Given the description of an element on the screen output the (x, y) to click on. 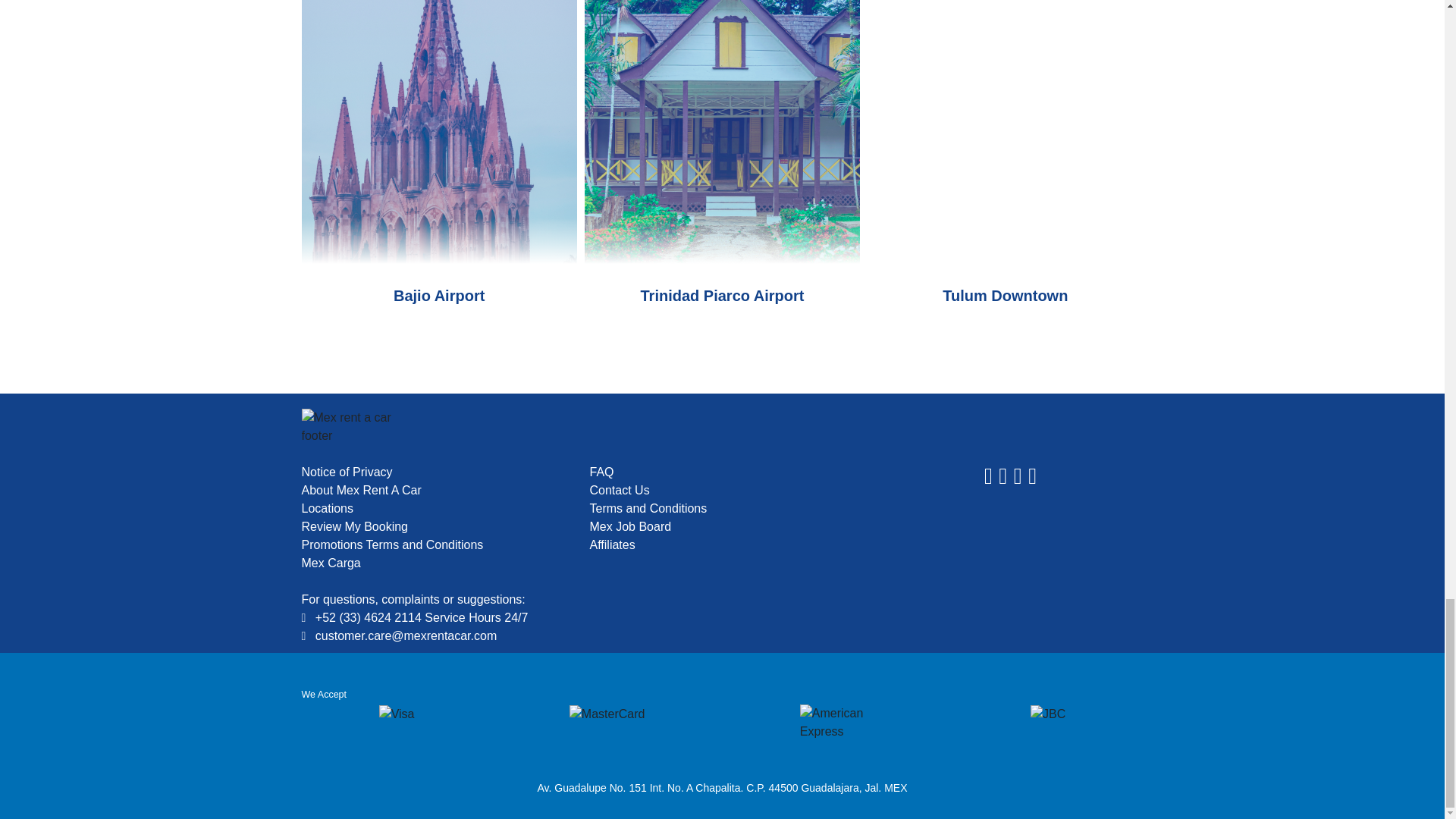
Mex Carga (434, 563)
Mex Job Board (722, 526)
Affiliates (722, 545)
Contact Us (722, 490)
FAQ (722, 472)
About Mex Rent A Car (434, 490)
Promotions Terms and Conditions (434, 545)
Notice of Privacy (434, 472)
Terms and Conditions (722, 508)
Review My Booking (434, 526)
Locations (434, 508)
